Given the description of an element on the screen output the (x, y) to click on. 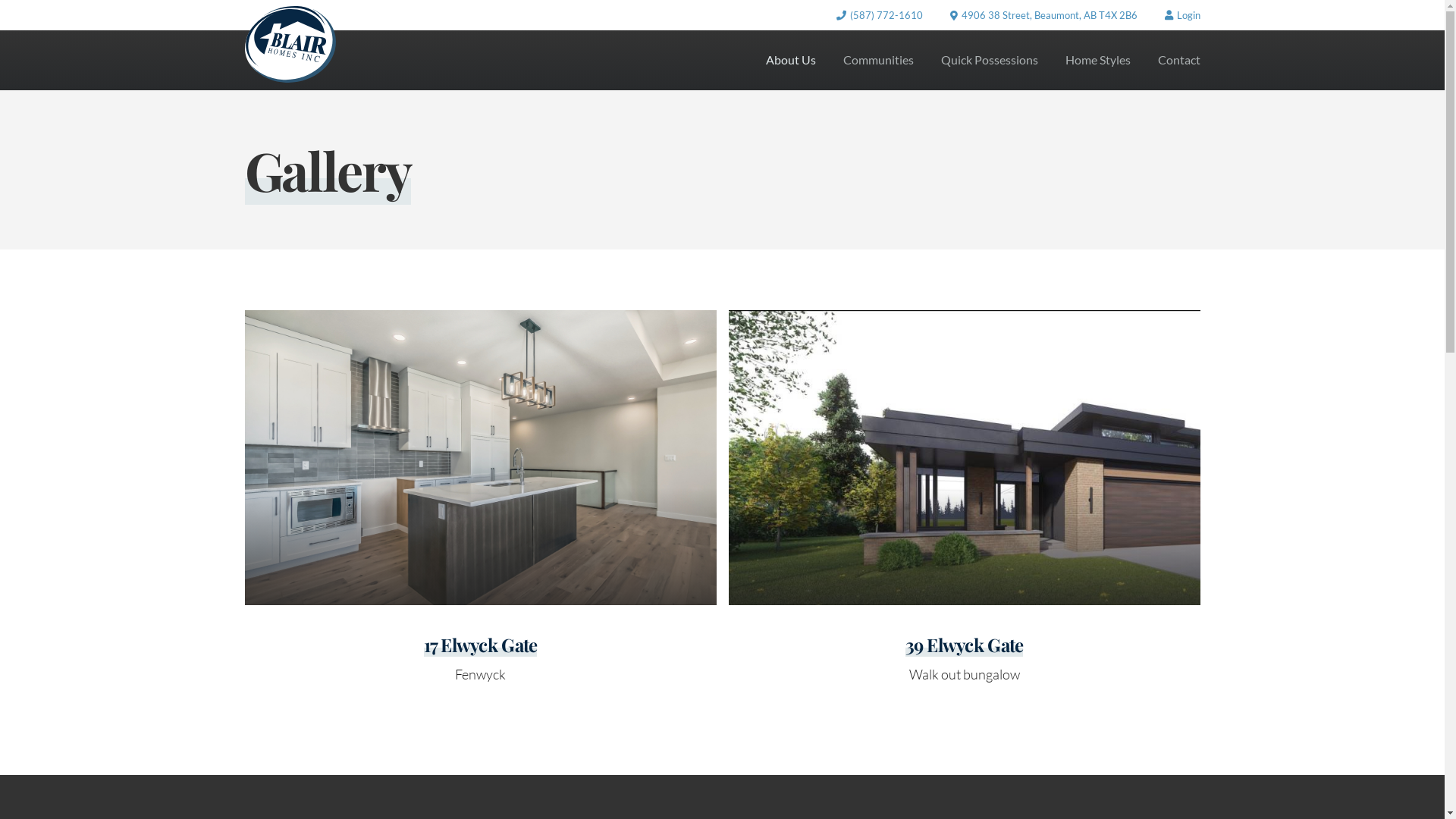
4906 38 Street, Beaumont, AB T4X 2B6 Element type: text (1049, 15)
17 Elwyck Gate
Fenwyck Element type: text (479, 512)
Home Styles Element type: text (1097, 59)
Login Element type: text (1188, 15)
Quick Possessions Element type: text (988, 59)
About Us Element type: text (790, 59)
Communities Element type: text (878, 59)
Contact Element type: text (1178, 59)
39 Elwyck Gate
Walk out bungalow Element type: text (963, 512)
(587) 772-1610 Element type: text (885, 15)
